Given the description of an element on the screen output the (x, y) to click on. 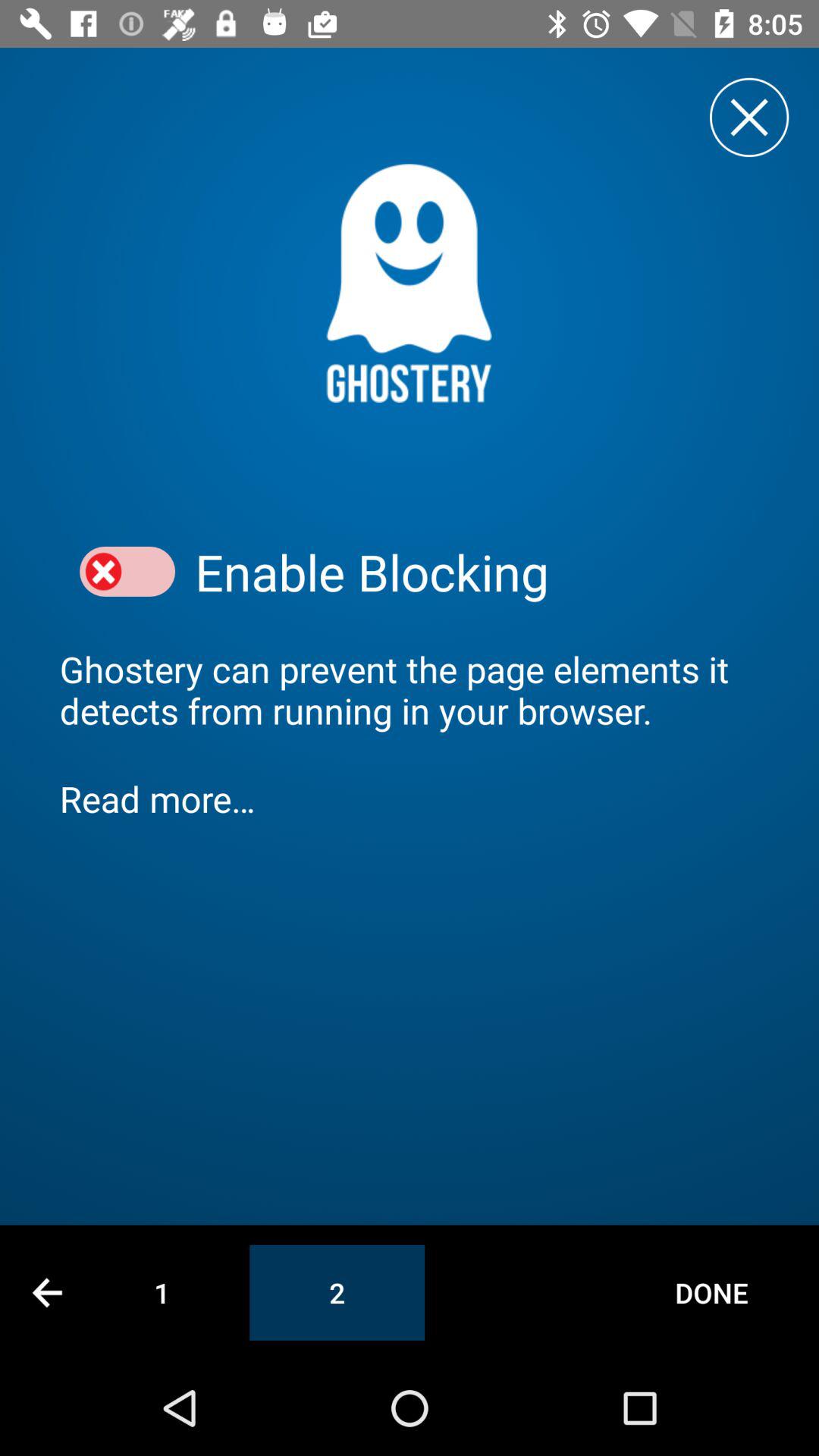
closes the current app 's tab (749, 117)
